Given the description of an element on the screen output the (x, y) to click on. 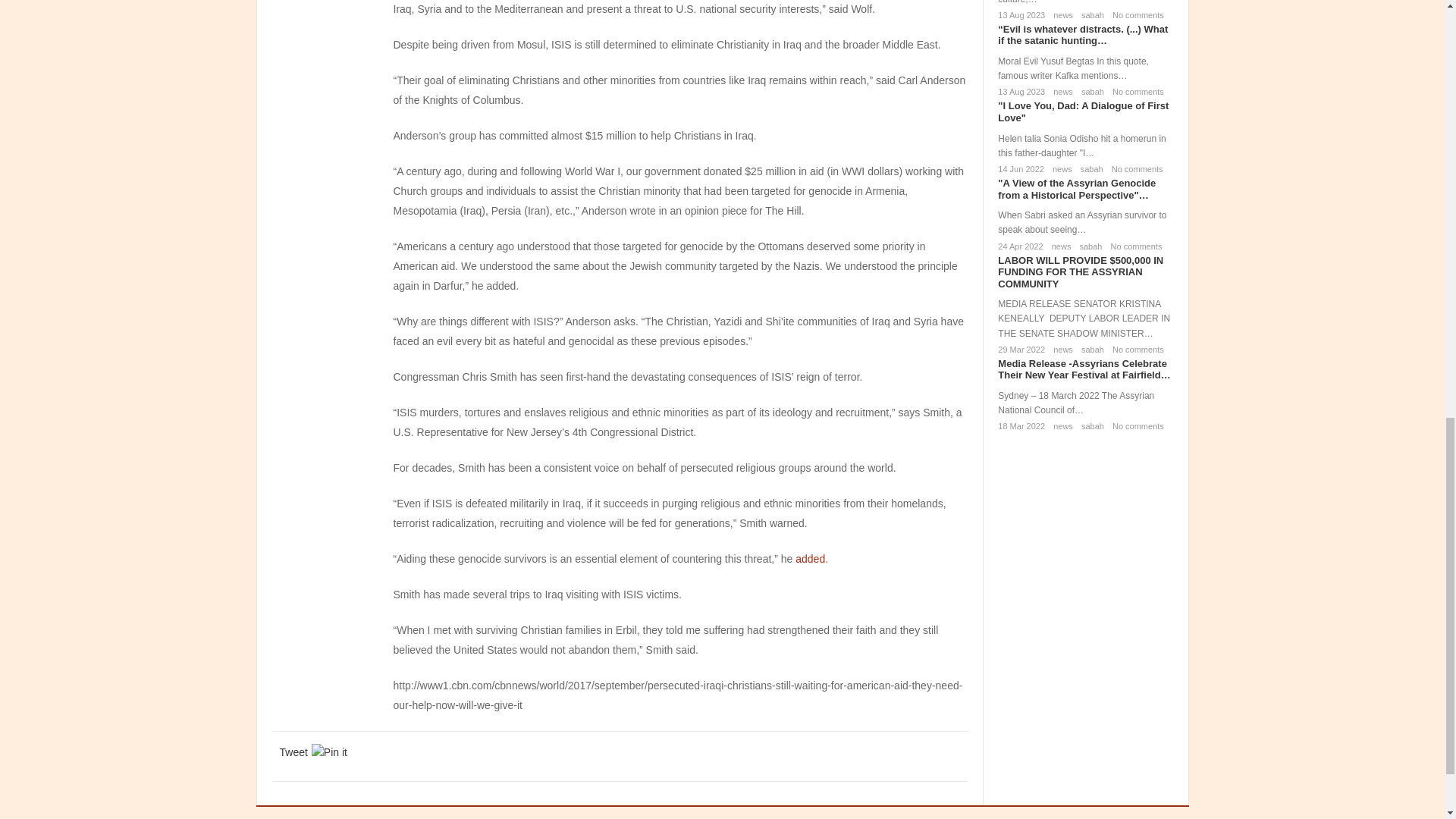
added (809, 558)
Tweet (293, 751)
I Love You, Dad: A Dialogue of First Love (1083, 111)
Pin it (329, 751)
